Given the description of an element on the screen output the (x, y) to click on. 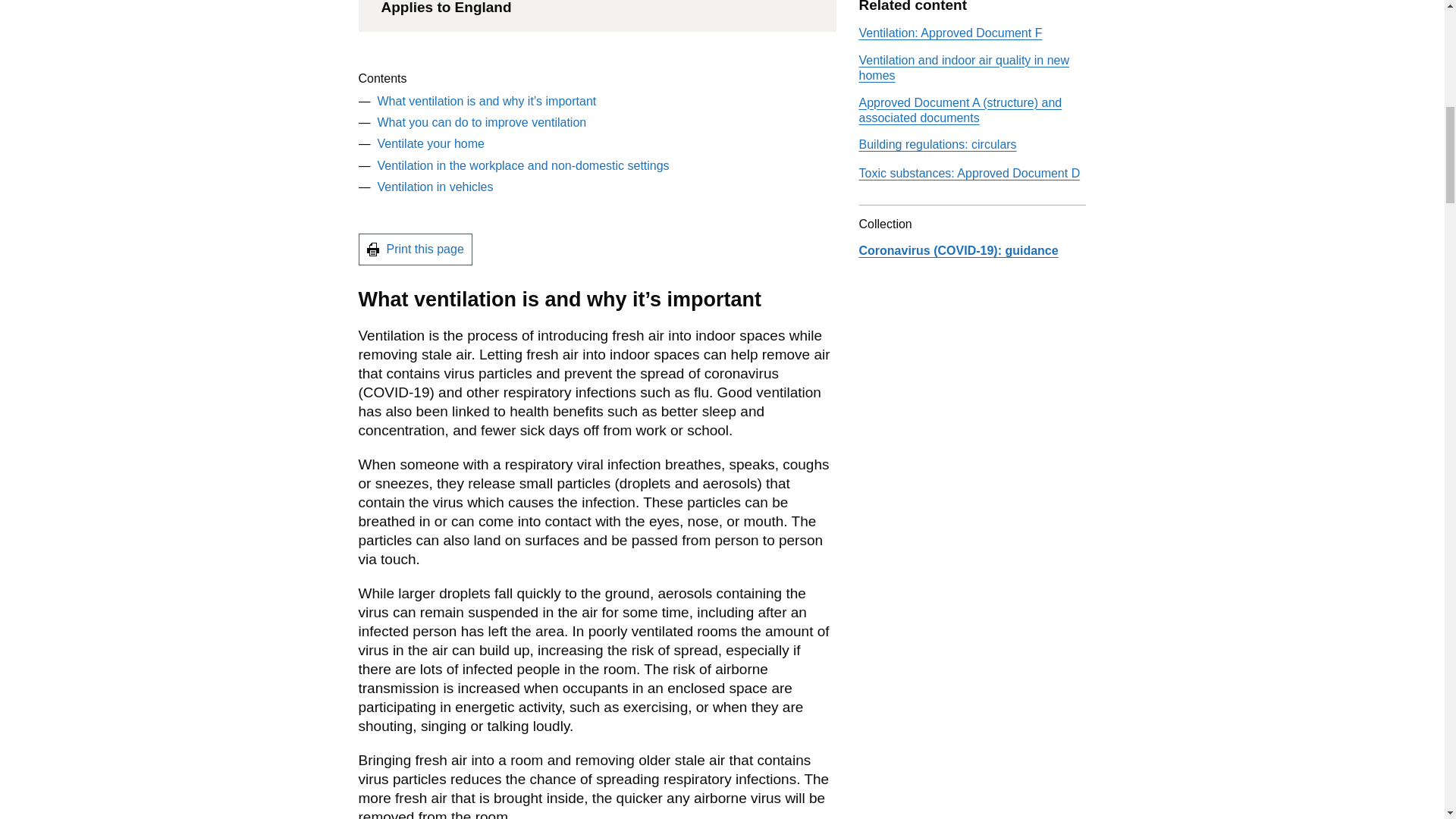
Ventilation in the workplace and non-domestic settings (523, 164)
Ventilation in vehicles (435, 186)
Ventilate your home (430, 143)
Print this page (414, 249)
What you can do to improve ventilation (481, 122)
